Given the description of an element on the screen output the (x, y) to click on. 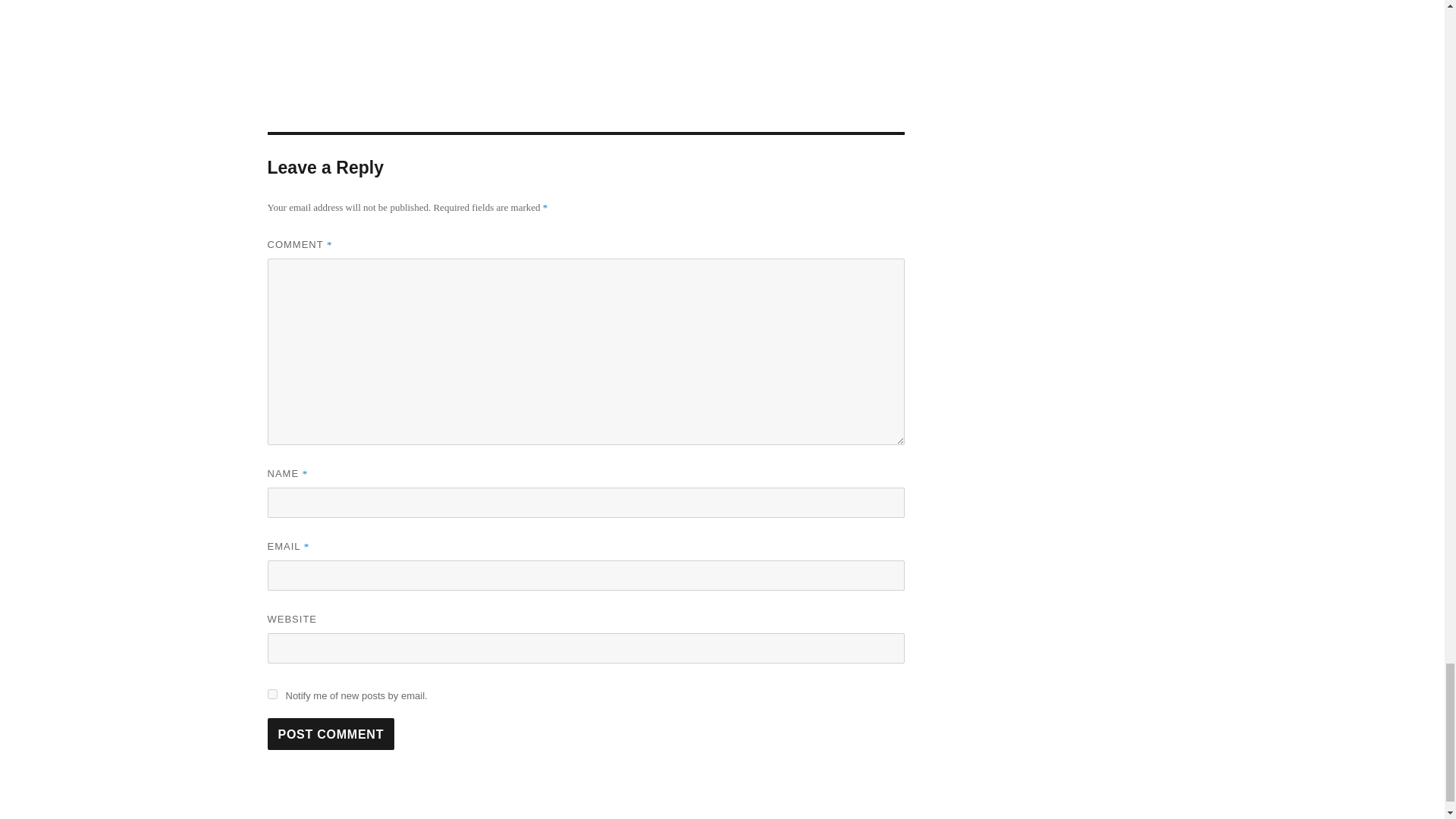
Post Comment (330, 734)
subscribe (271, 694)
